Given the description of an element on the screen output the (x, y) to click on. 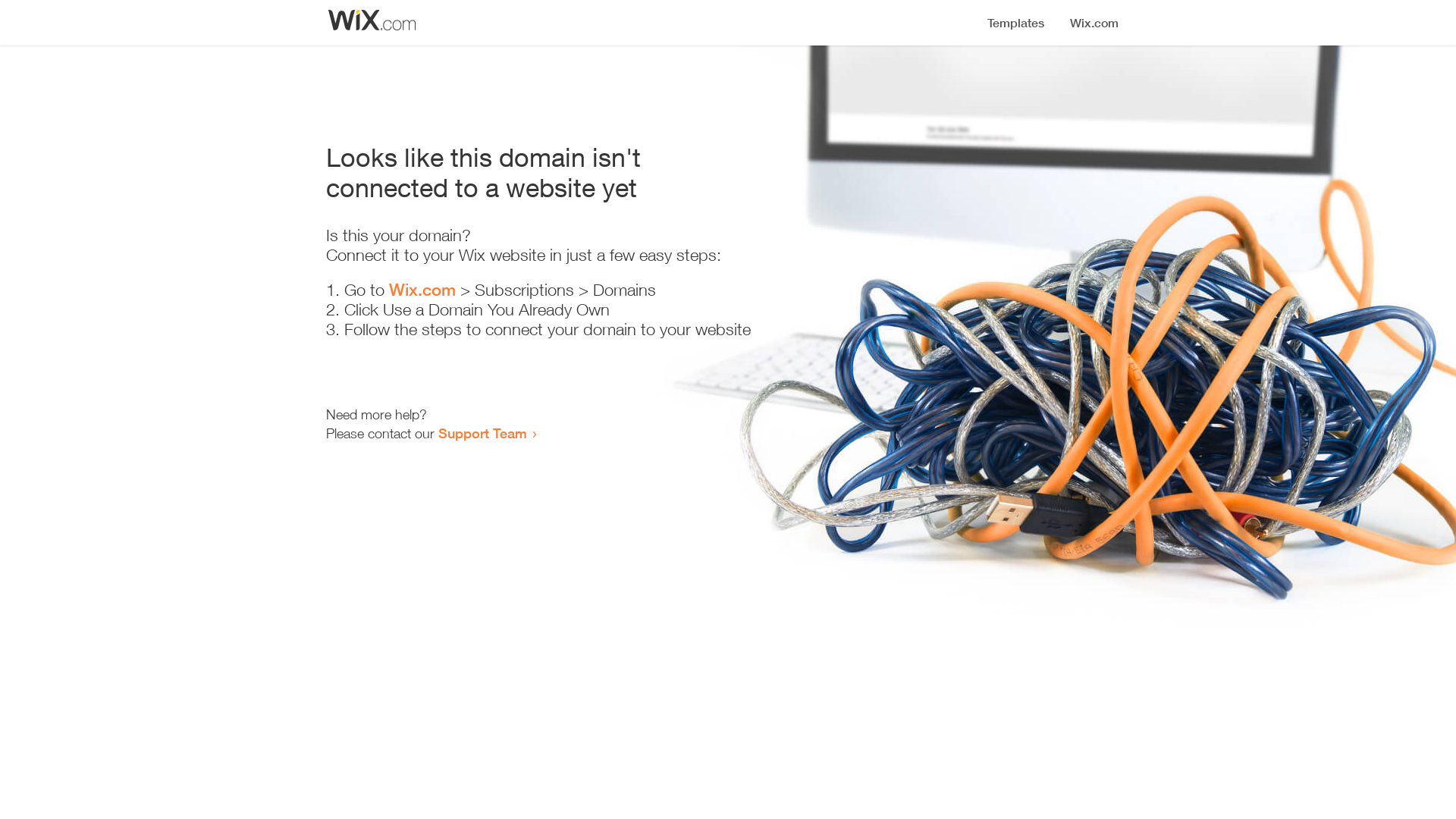
Support Team Element type: text (482, 432)
Wix.com Element type: text (422, 289)
